Given the description of an element on the screen output the (x, y) to click on. 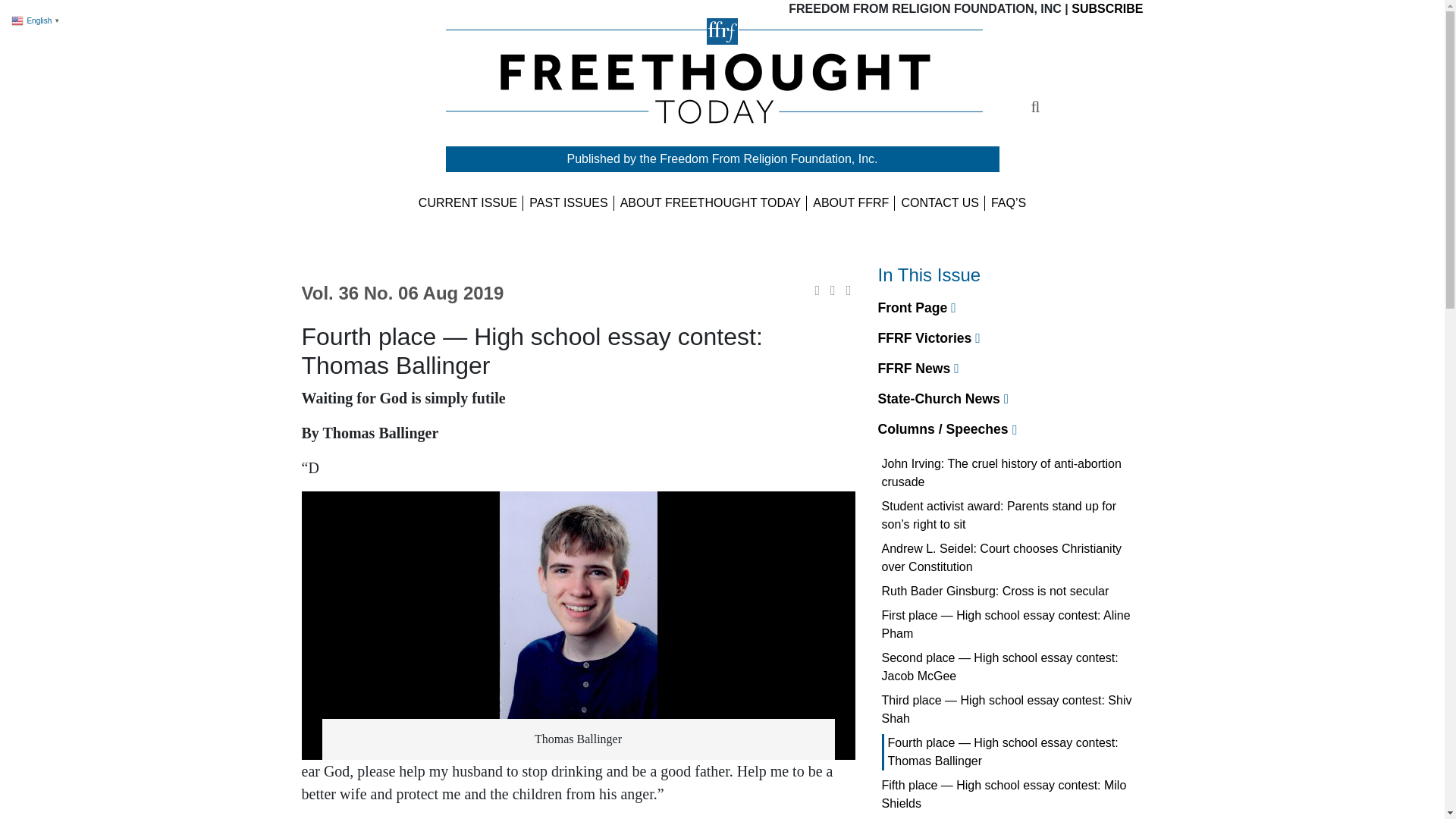
Ruth Bader Ginsburg: Cross is not secular (995, 591)
SUBSCRIBE (1106, 8)
ABOUT FFRF (850, 203)
State-Church News (943, 399)
John Irving: The cruel history of anti-abortion crusade (1011, 473)
CONTACT US (940, 203)
Front Page (916, 307)
FAQ's (1008, 203)
Contact Us (940, 203)
Current Issue (467, 203)
